Given the description of an element on the screen output the (x, y) to click on. 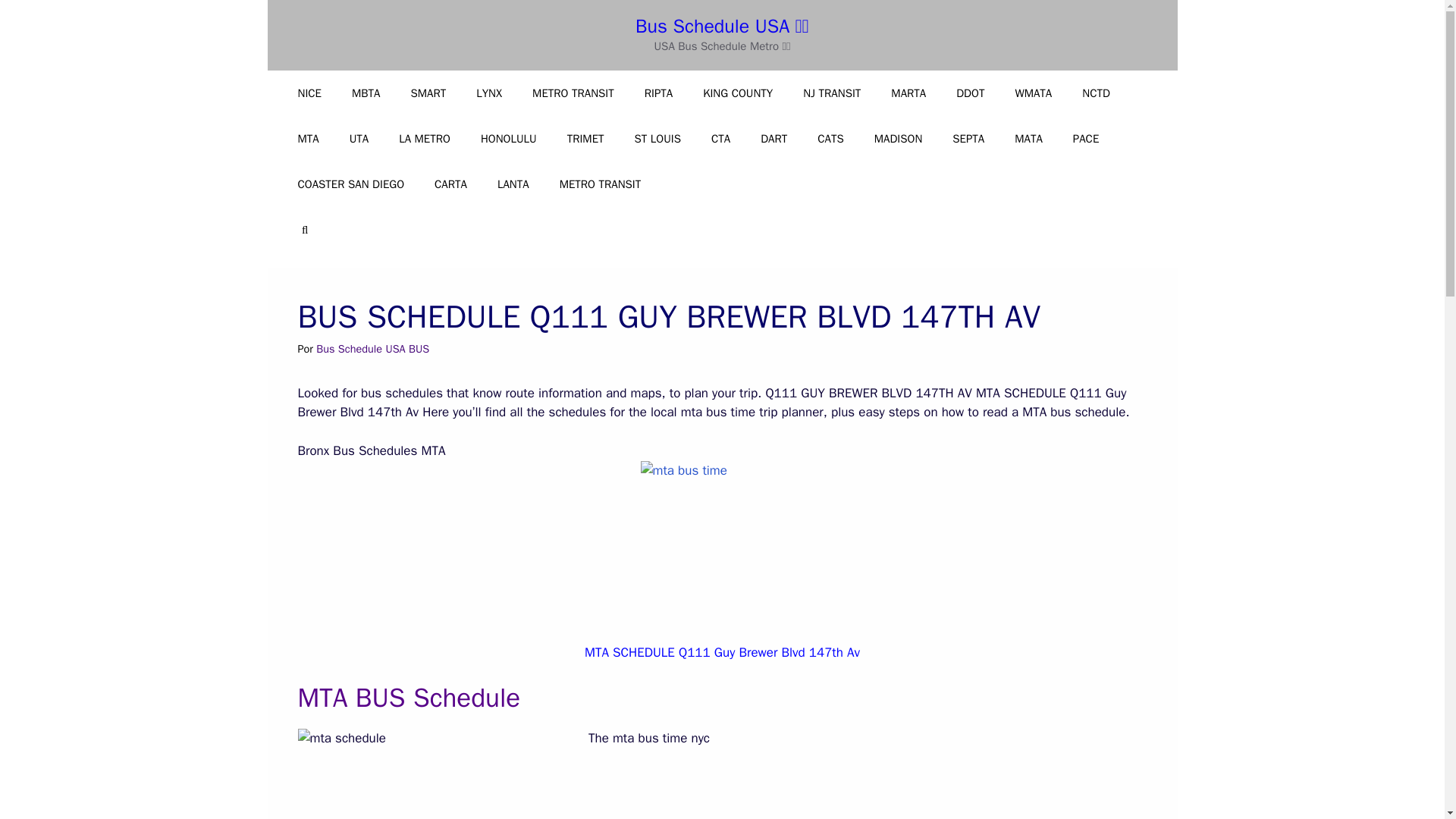
UTA (359, 137)
MATA (1028, 137)
METRO TRANSIT (600, 183)
METRO TRANSIT (572, 92)
LANTA (512, 183)
CARTA (450, 183)
TRIMET (585, 137)
SEPTA (967, 137)
Bus Schedule USA BUS (372, 348)
WMATA (1032, 92)
LA METRO (424, 137)
NCTD (1096, 92)
DART (773, 137)
SMART (427, 92)
PACE (1085, 137)
